Given the description of an element on the screen output the (x, y) to click on. 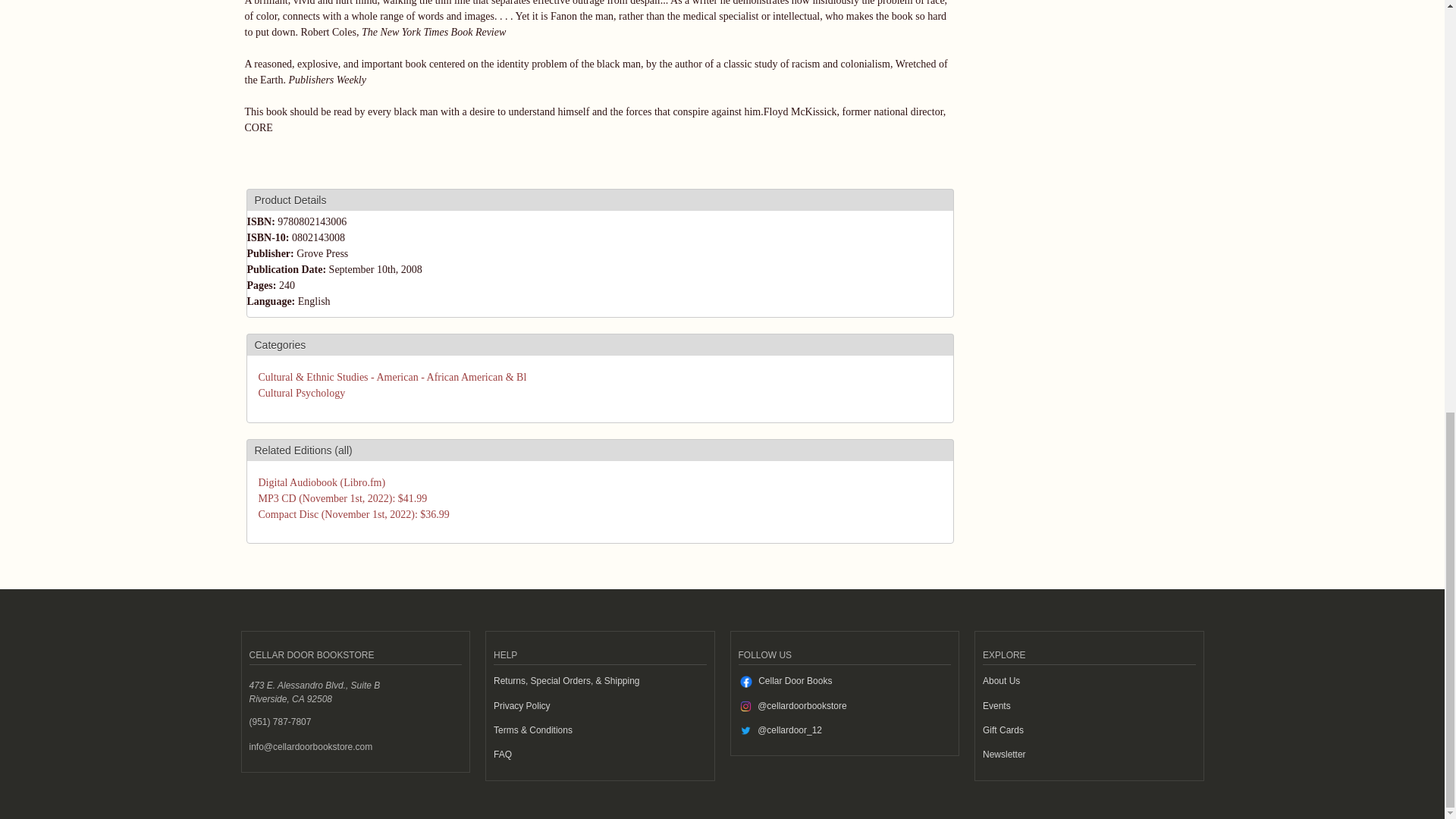
FAQ (502, 754)
Cultural Psychology (301, 392)
Cellar Door Books (794, 680)
Privacy Policy (521, 706)
